Given the description of an element on the screen output the (x, y) to click on. 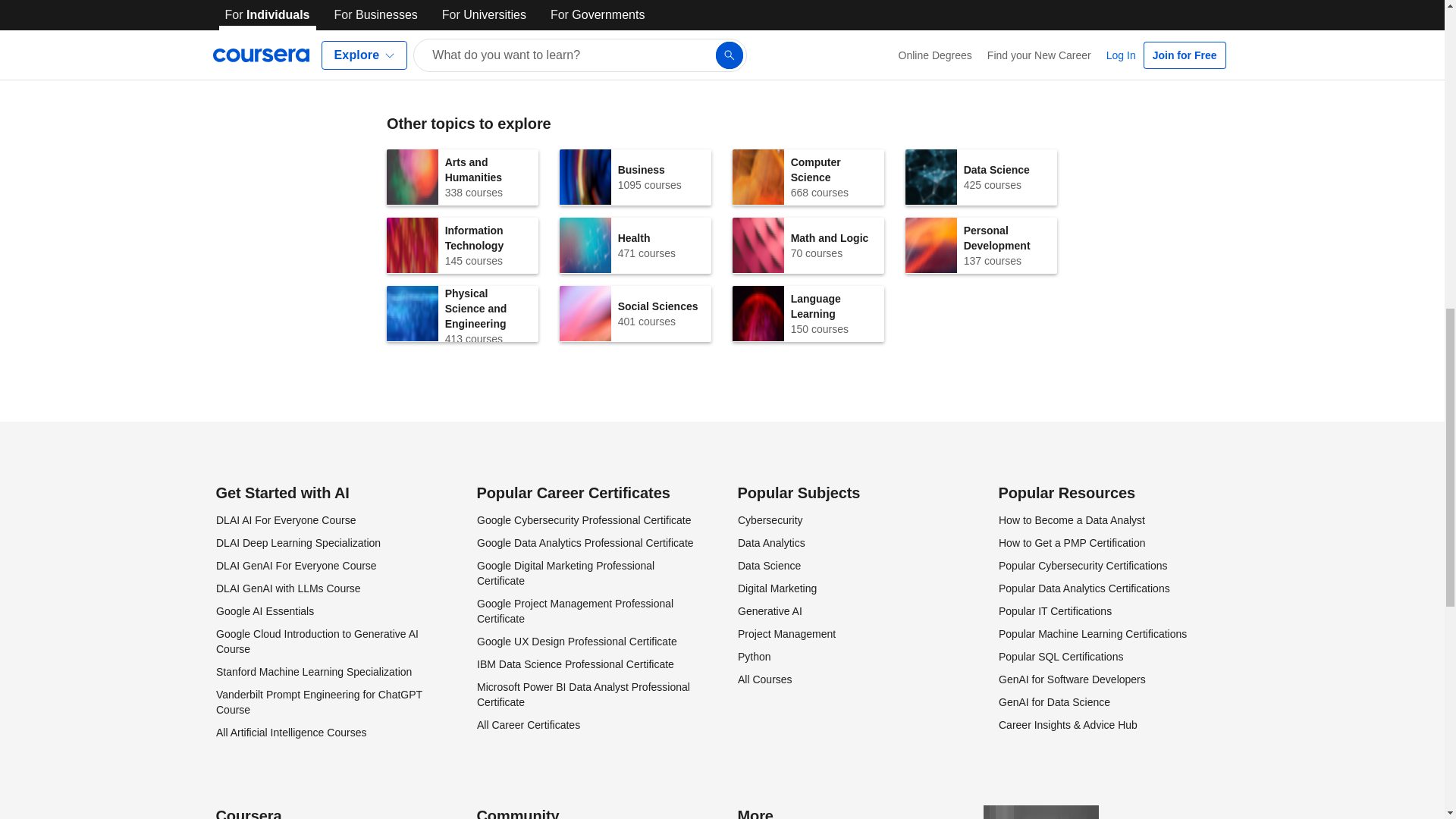
Vanderbilt Prompt Engineering for ChatGPT Course (981, 245)
Mindfulness and Well-being: Living with Balance and Ease (318, 701)
DLAI Deep Learning Specialization (631, 27)
DLAI AI For Everyone Course (297, 542)
DLAI GenAI For Everyone Course (635, 177)
Google AI Essentials (807, 245)
Google Cloud Introduction to Generative AI Course (285, 520)
Google Cybersecurity Professional Certificate (295, 565)
Mindfulness and Well-being: Foundations (462, 313)
